Given the description of an element on the screen output the (x, y) to click on. 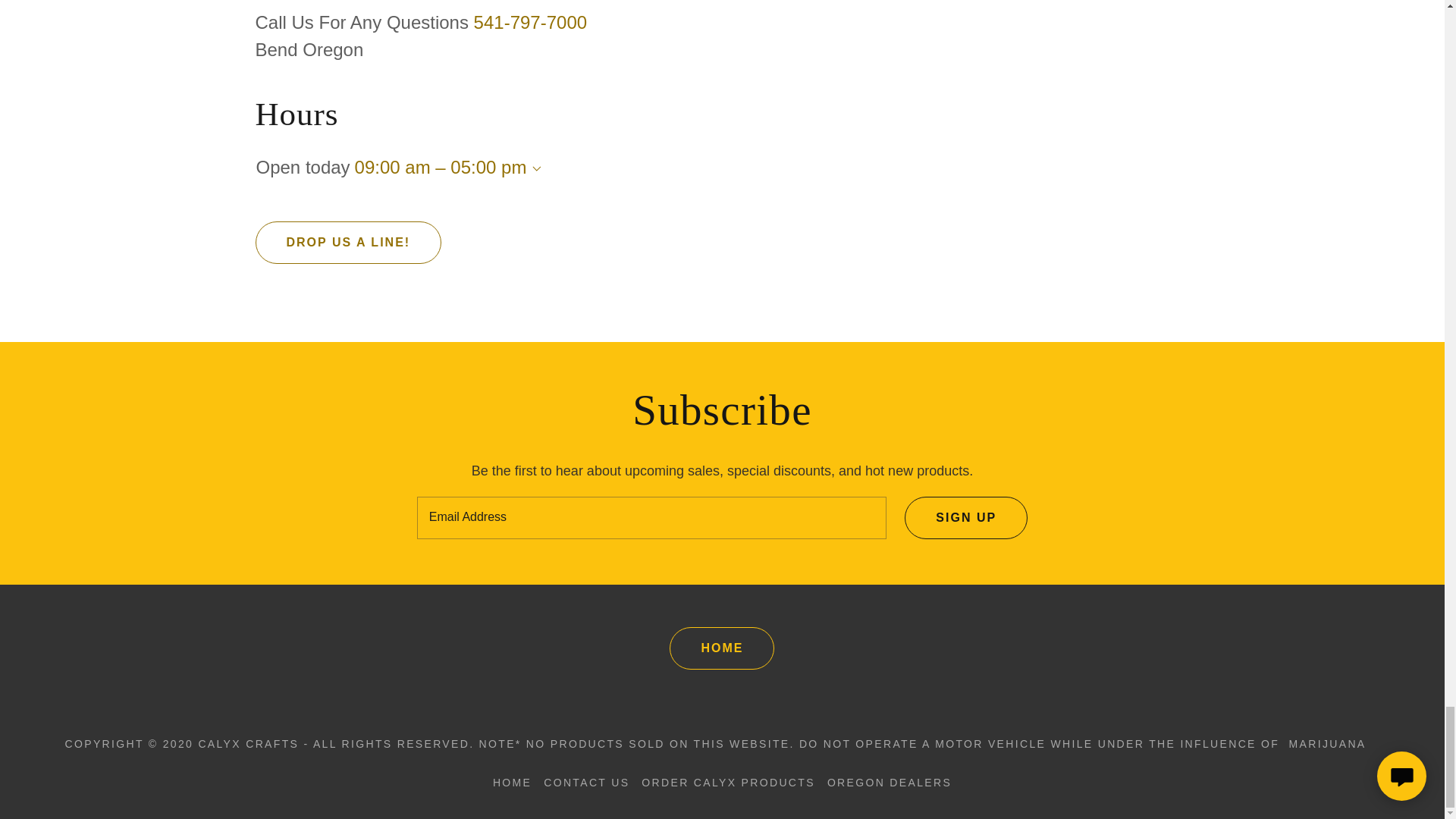
HOME (721, 648)
541-797-7000 (530, 22)
SIGN UP (965, 517)
DROP US A LINE! (347, 242)
